Given the description of an element on the screen output the (x, y) to click on. 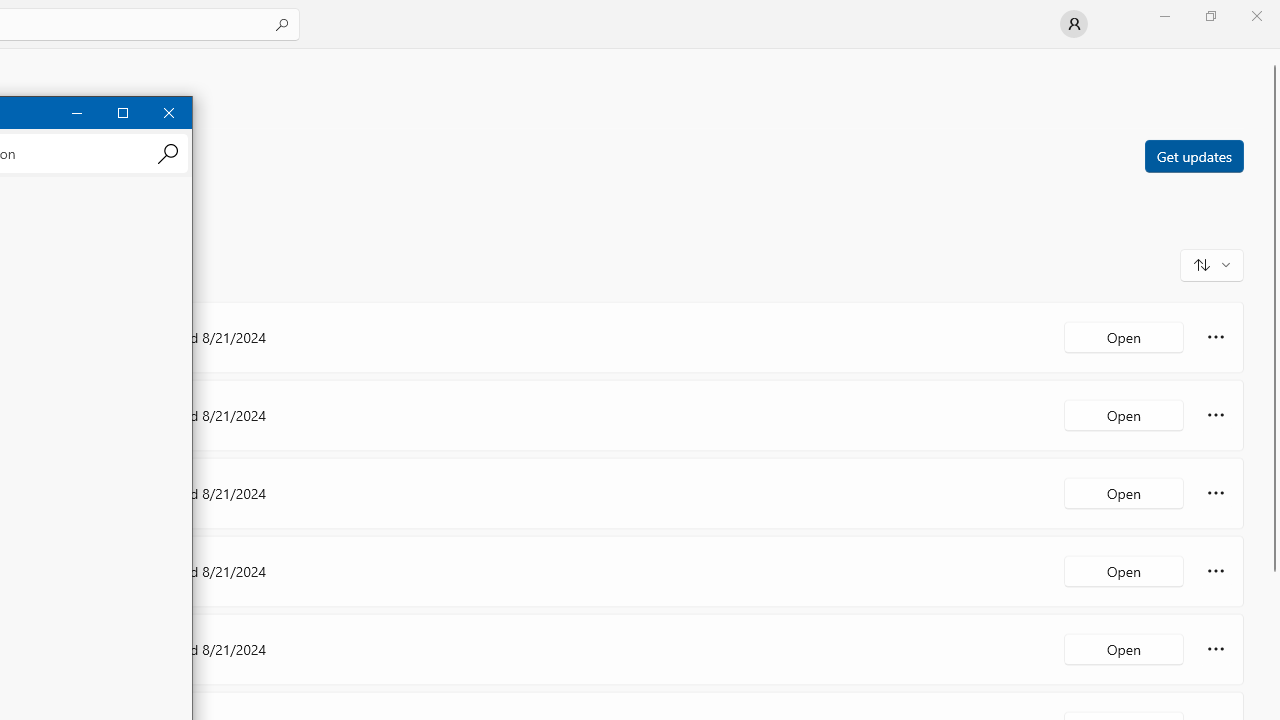
Close Microsoft Store (1256, 15)
Restore Microsoft Store (1210, 15)
More options (1215, 648)
User profile (1073, 24)
Vertical Small Decrease (1272, 55)
Get updates (1193, 155)
Open (1123, 648)
Minimize Microsoft Store (1164, 15)
Sort and filter (1212, 263)
